Given the description of an element on the screen output the (x, y) to click on. 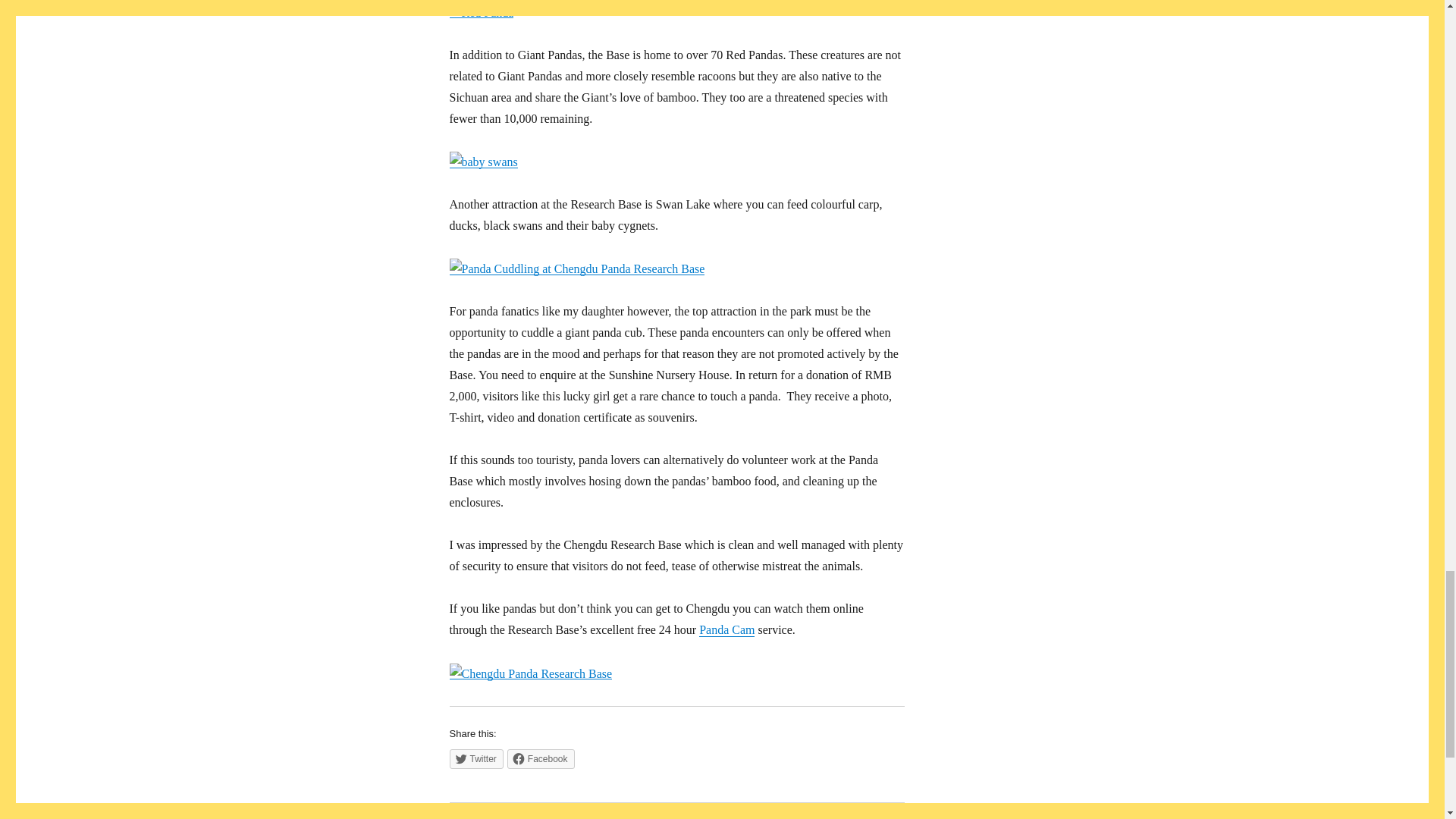
Red Panda (480, 12)
baby swans (482, 161)
Click to share on Facebook (540, 759)
Click to share on Twitter (475, 759)
Panda Cuddling at Chengdu Panda Research Base (576, 269)
Chengdu Panda Research Base (529, 673)
